Given the description of an element on the screen output the (x, y) to click on. 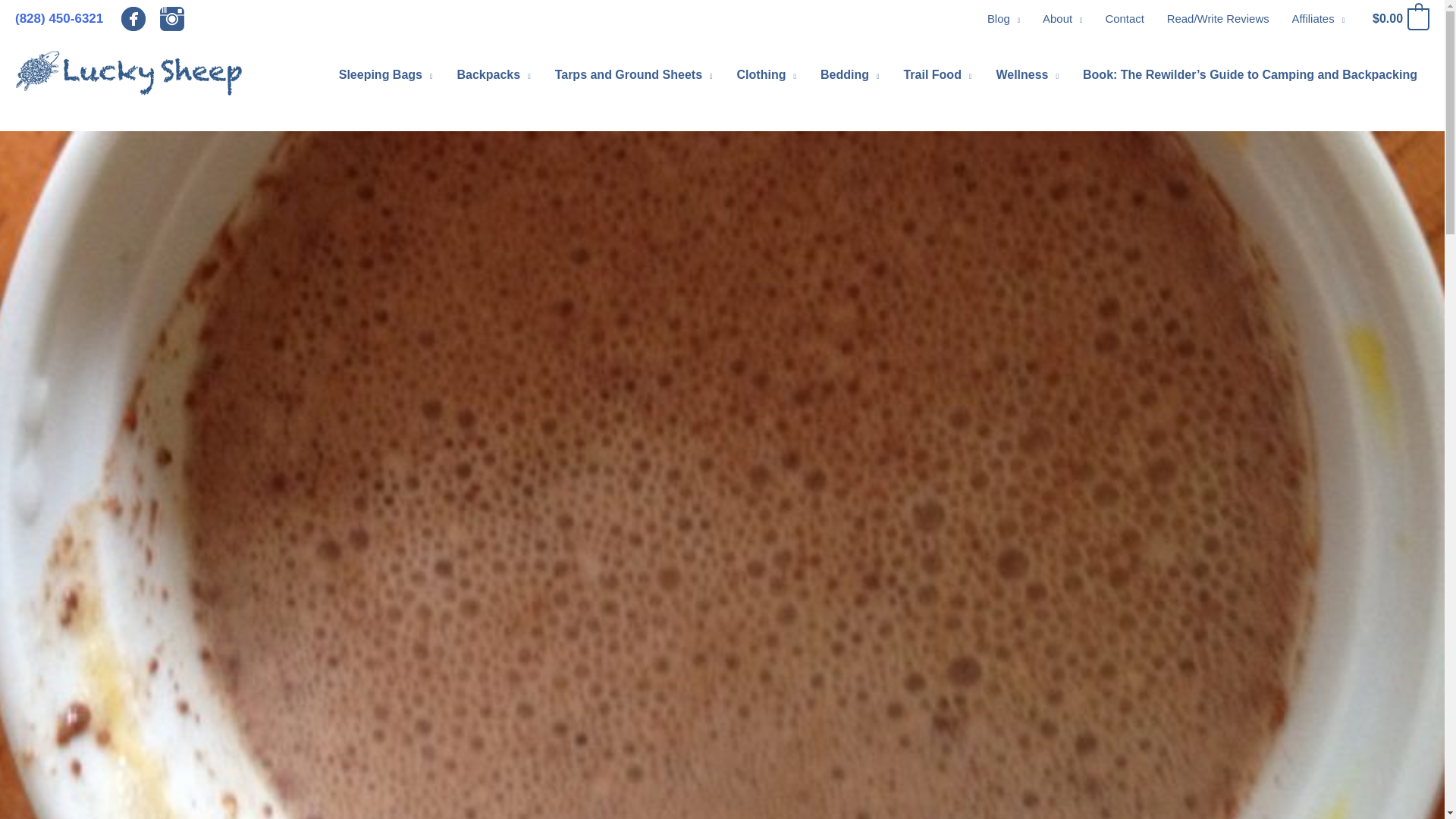
Sleeping Bags (385, 74)
Backpacks (492, 74)
About (1061, 18)
Contact (1125, 18)
Affiliates (1318, 18)
Blog (1002, 18)
